Given the description of an element on the screen output the (x, y) to click on. 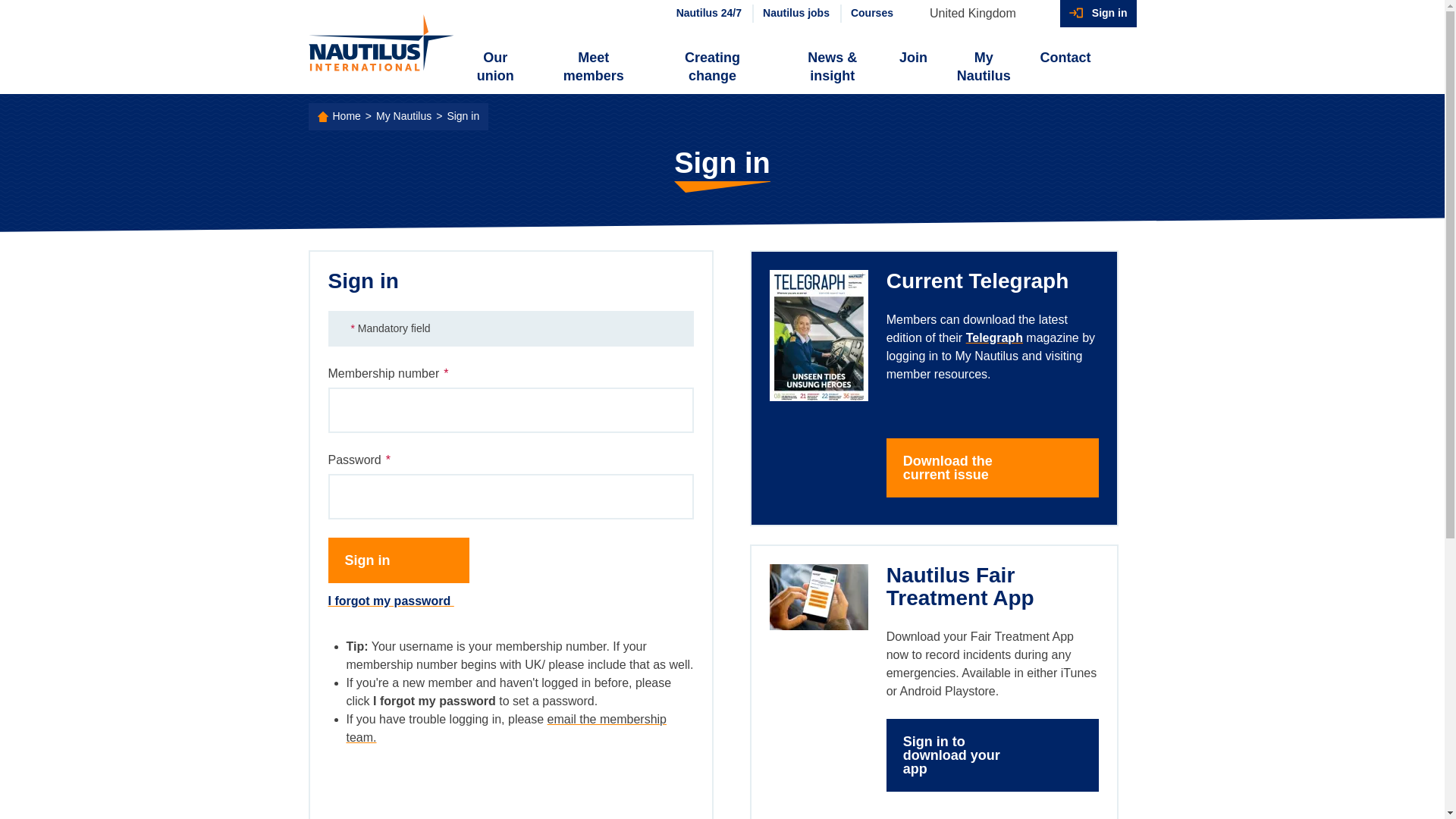
Sign in (1098, 13)
Our union (495, 67)
United Kingdom (979, 13)
Current Telegraph (994, 337)
Join (912, 58)
Nautilus jobs (795, 13)
Meet members (593, 67)
Callout Image (817, 596)
Courses (871, 13)
Creating change (711, 67)
My Nautilus (983, 67)
Contact (1065, 58)
